Given the description of an element on the screen output the (x, y) to click on. 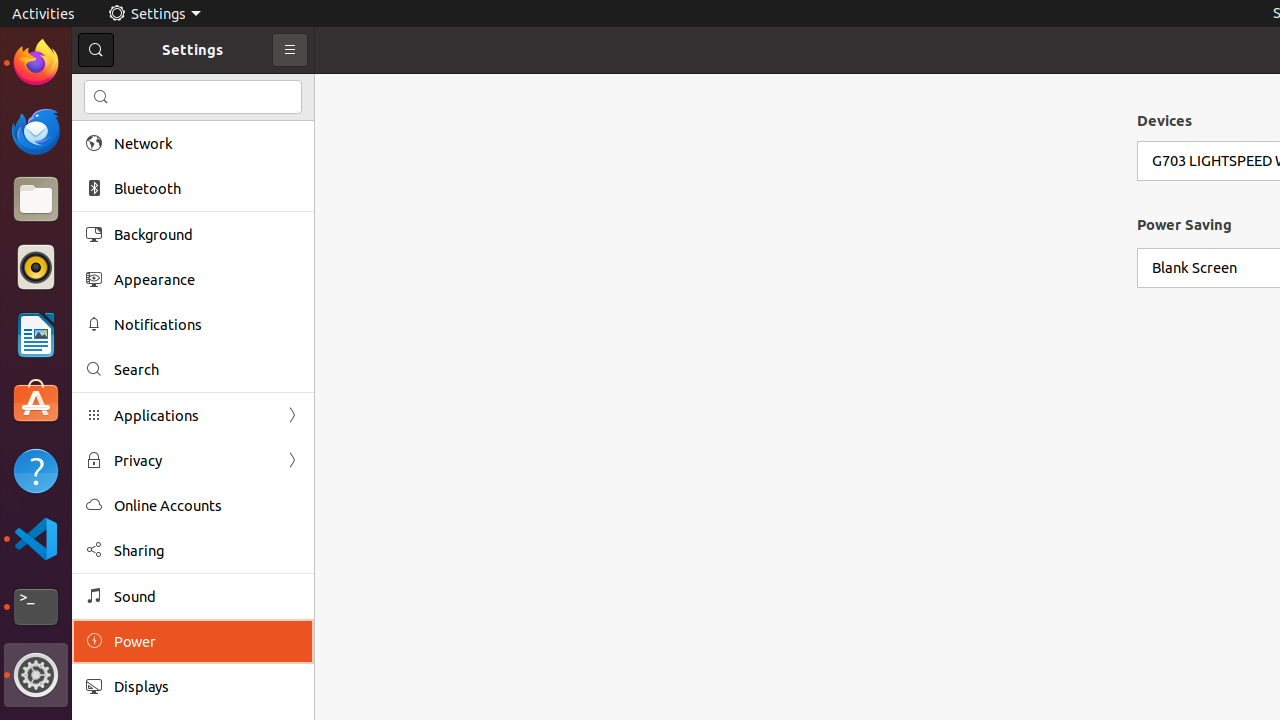
Devices Element type: label (1164, 120)
li.txt Element type: label (259, 89)
Displays Element type: label (207, 686)
Search Element type: text (193, 97)
